Given the description of an element on the screen output the (x, y) to click on. 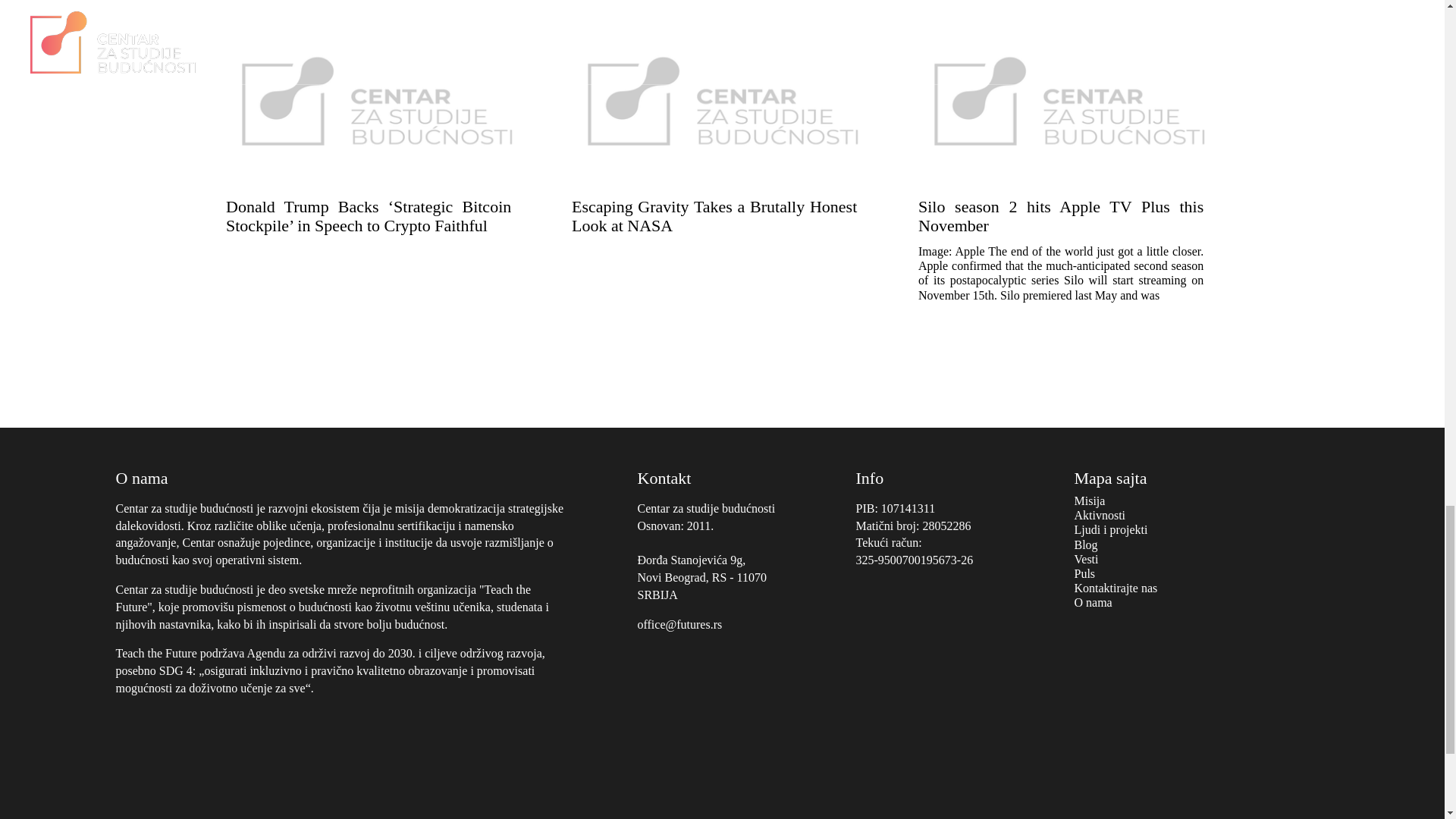
O nama (1093, 602)
Blog (1085, 544)
Misija (1089, 500)
Kontaktirajte nas (1115, 587)
Ljudi i projekti (1110, 529)
Puls (1084, 573)
Escaping Gravity Takes a Brutally Honest Look at NASA (722, 136)
Vesti (1085, 558)
Aktivnosti (1099, 514)
